Given the description of an element on the screen output the (x, y) to click on. 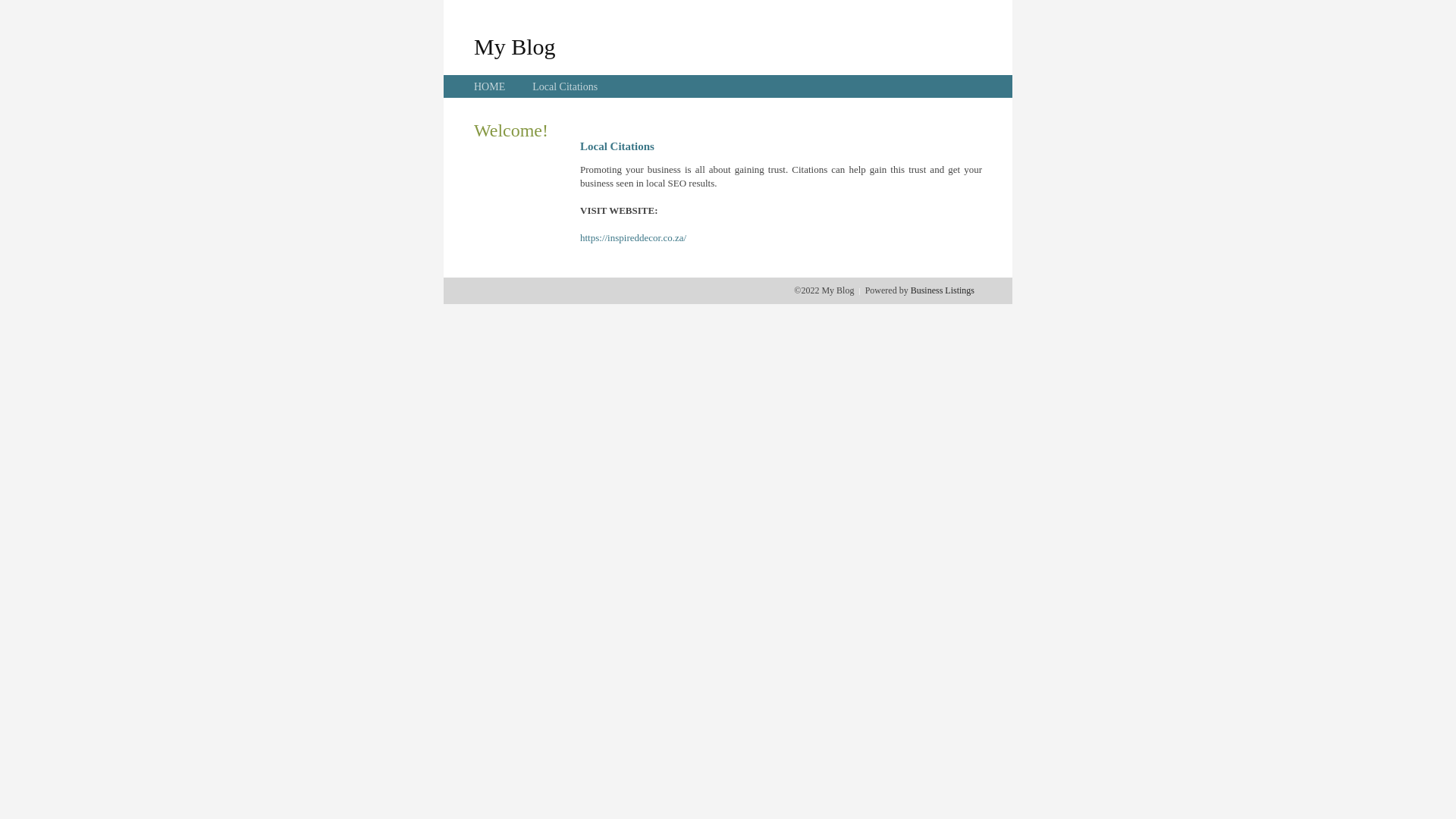
https://inspireddecor.co.za/ Element type: text (633, 237)
Business Listings Element type: text (942, 290)
HOME Element type: text (489, 86)
My Blog Element type: text (514, 46)
Local Citations Element type: text (564, 86)
